Given the description of an element on the screen output the (x, y) to click on. 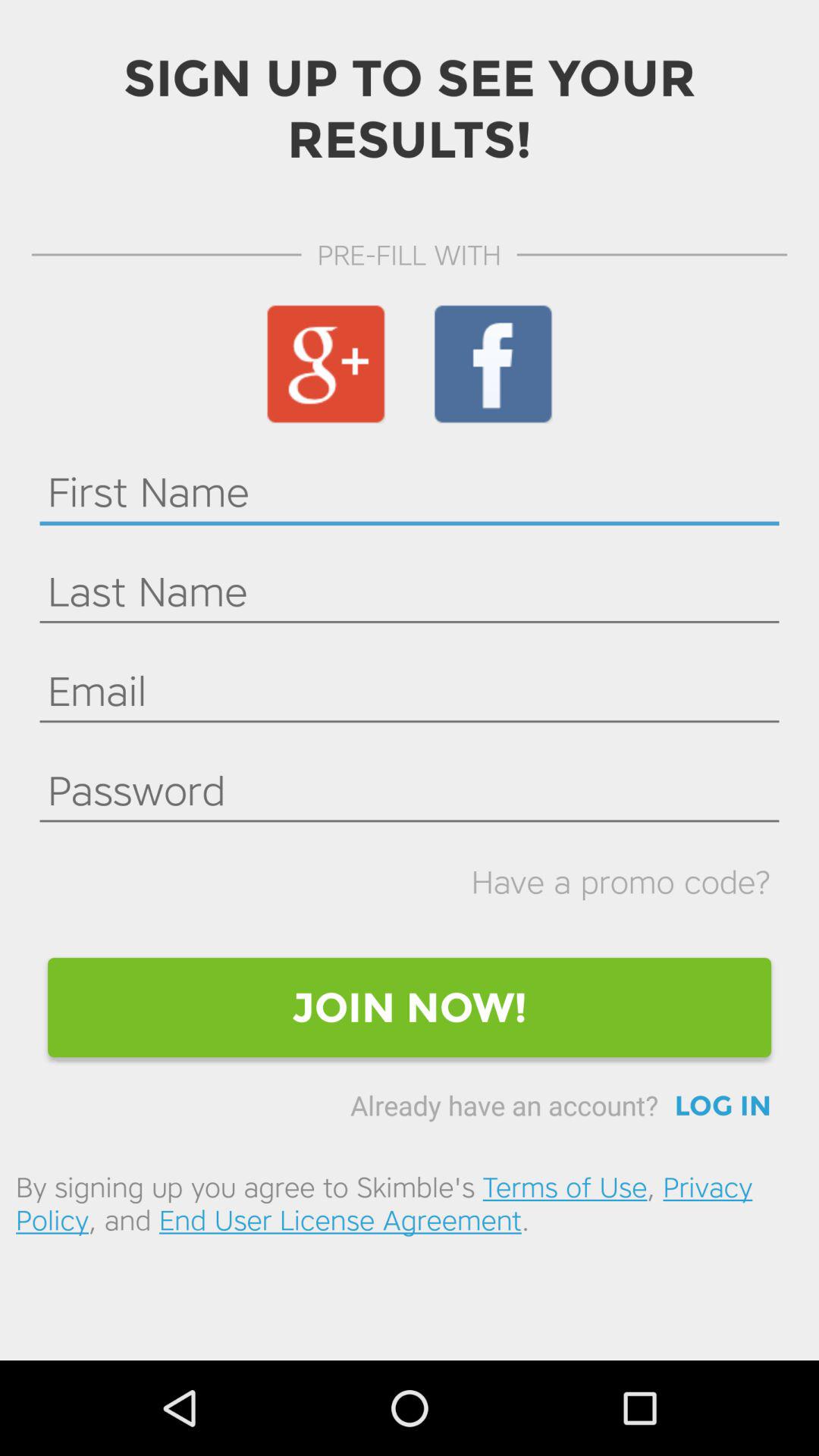
jump to have a promo (621, 881)
